Given the description of an element on the screen output the (x, y) to click on. 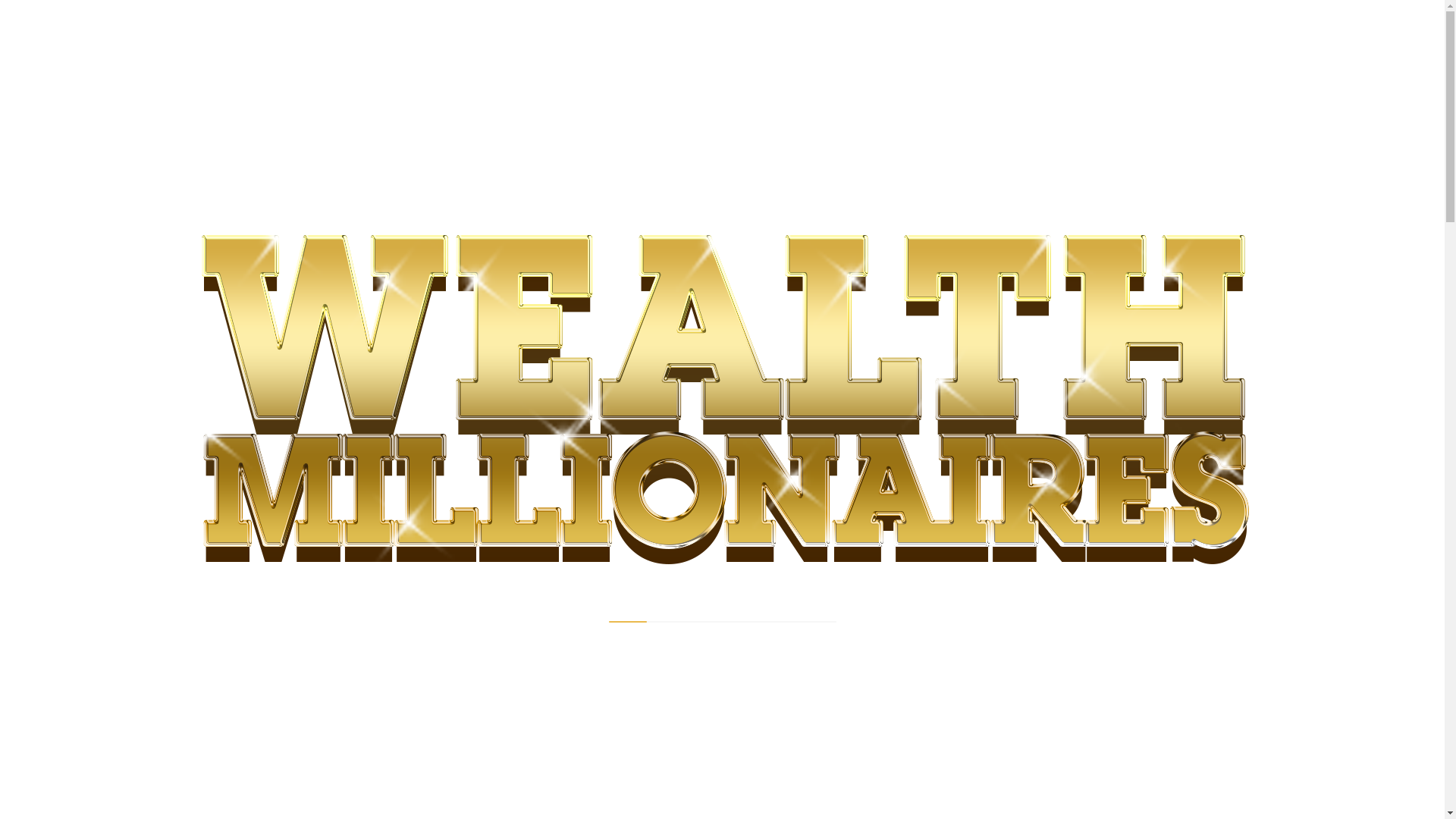
News (359, 289)
Home (314, 289)
Home (314, 289)
News (359, 289)
NEWS (322, 345)
